Given the description of an element on the screen output the (x, y) to click on. 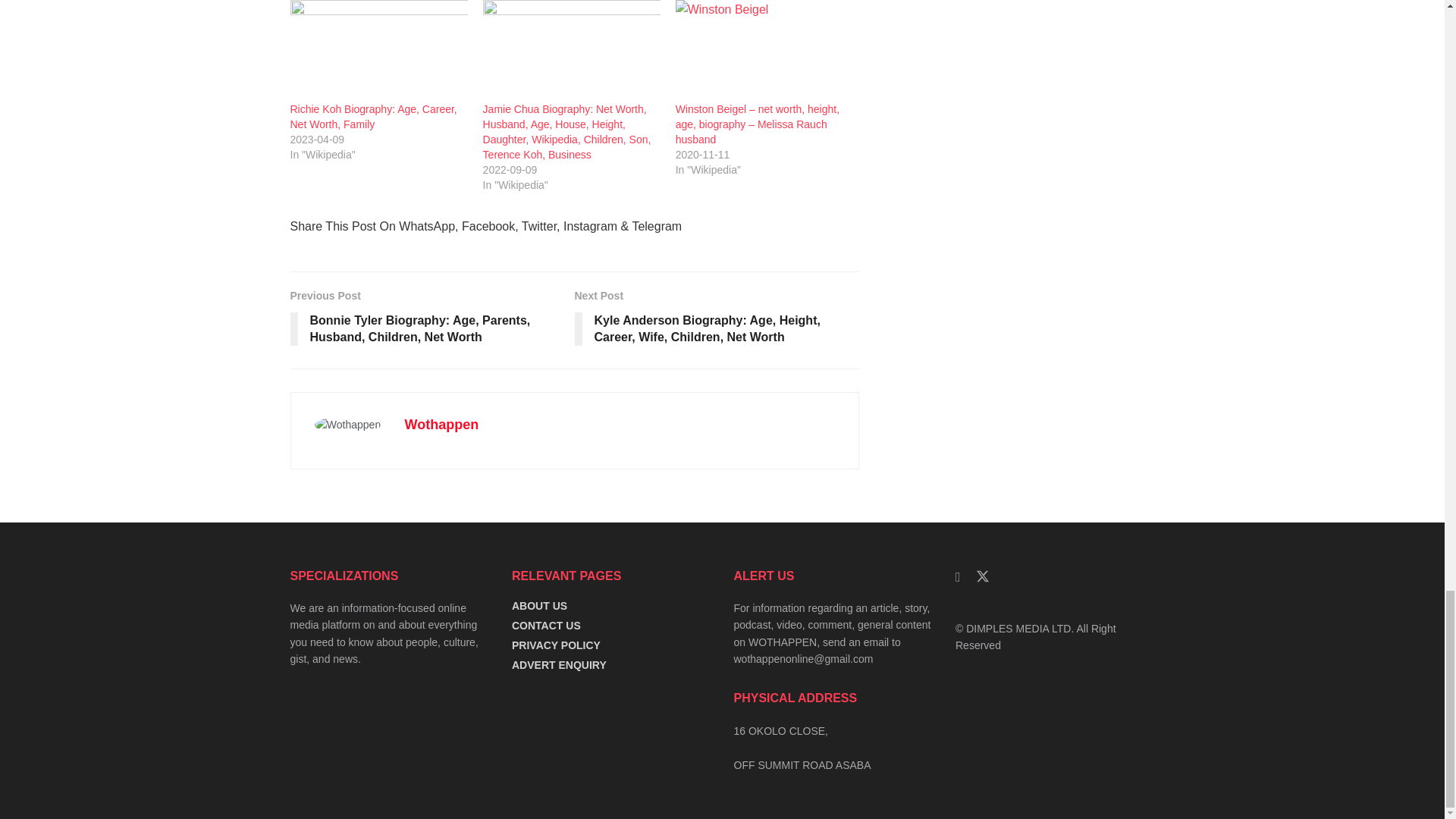
Richie Koh Biography: Age, Career, Net Worth, Family (373, 116)
Richie Koh Biography: Age, Career, Net Worth, Family (378, 50)
